Given the description of an element on the screen output the (x, y) to click on. 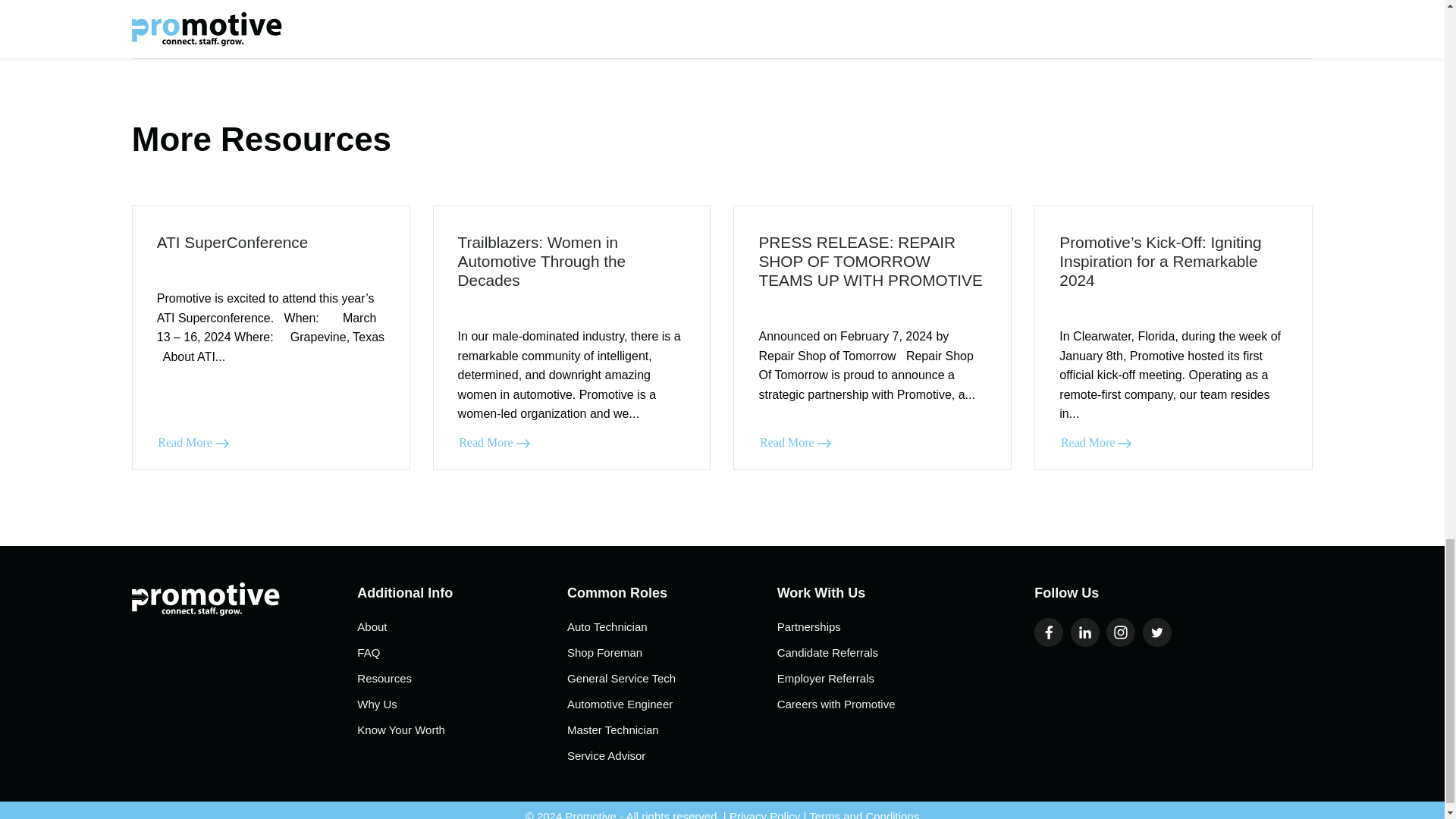
About (461, 627)
Careers with Promotive (882, 704)
FAQ (461, 652)
Partnerships (882, 627)
Read More (192, 442)
Candidate Referrals (882, 652)
Read More (795, 442)
Automotive Engineer (672, 704)
Why Us (461, 704)
General Service Tech (672, 678)
Terms and Conditions (863, 814)
Read More (493, 442)
Auto Technician (672, 627)
Know Your Worth (461, 730)
Privacy Policy (764, 814)
